Given the description of an element on the screen output the (x, y) to click on. 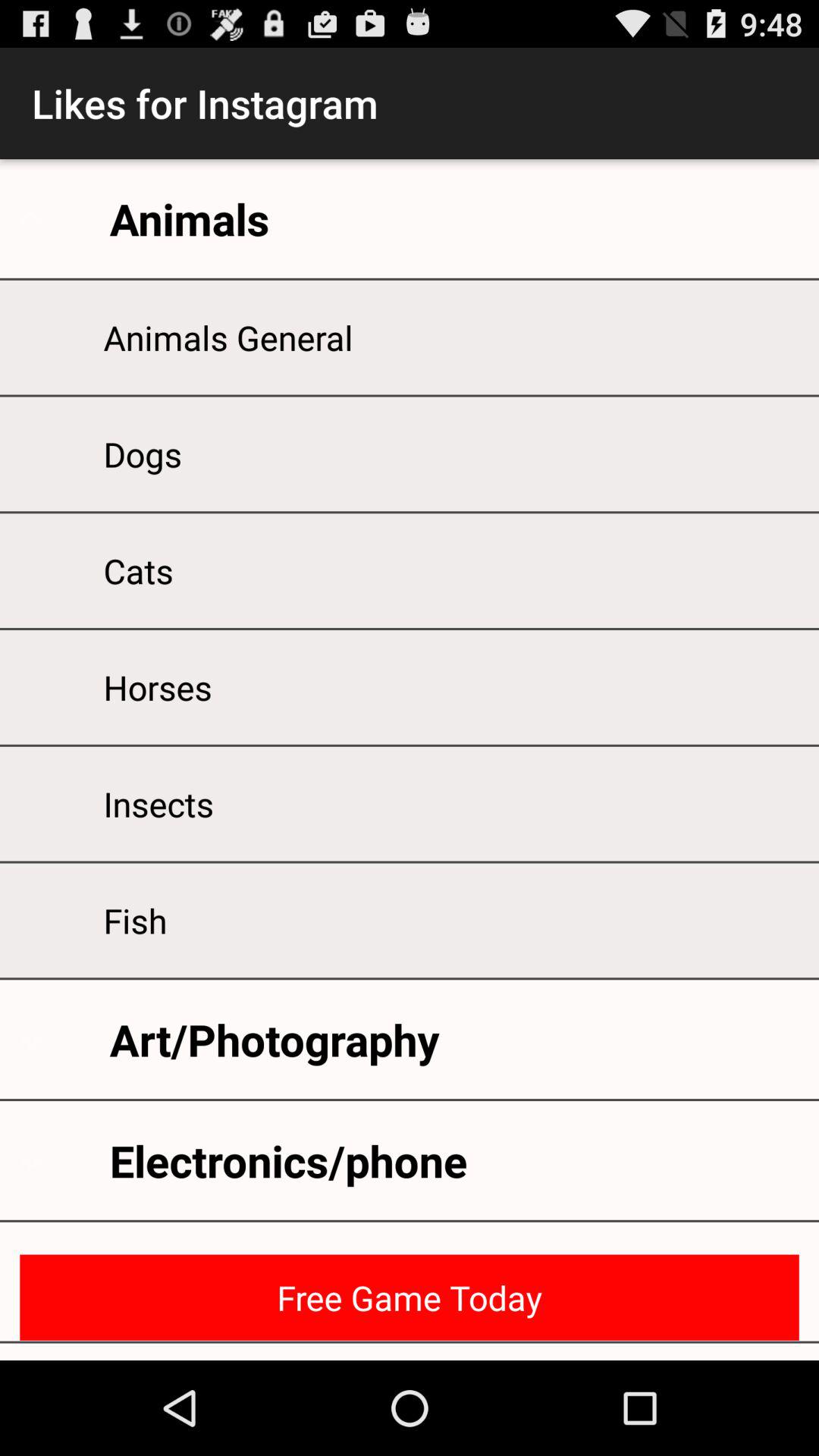
launch icon below electronics/phone (409, 1297)
